Given the description of an element on the screen output the (x, y) to click on. 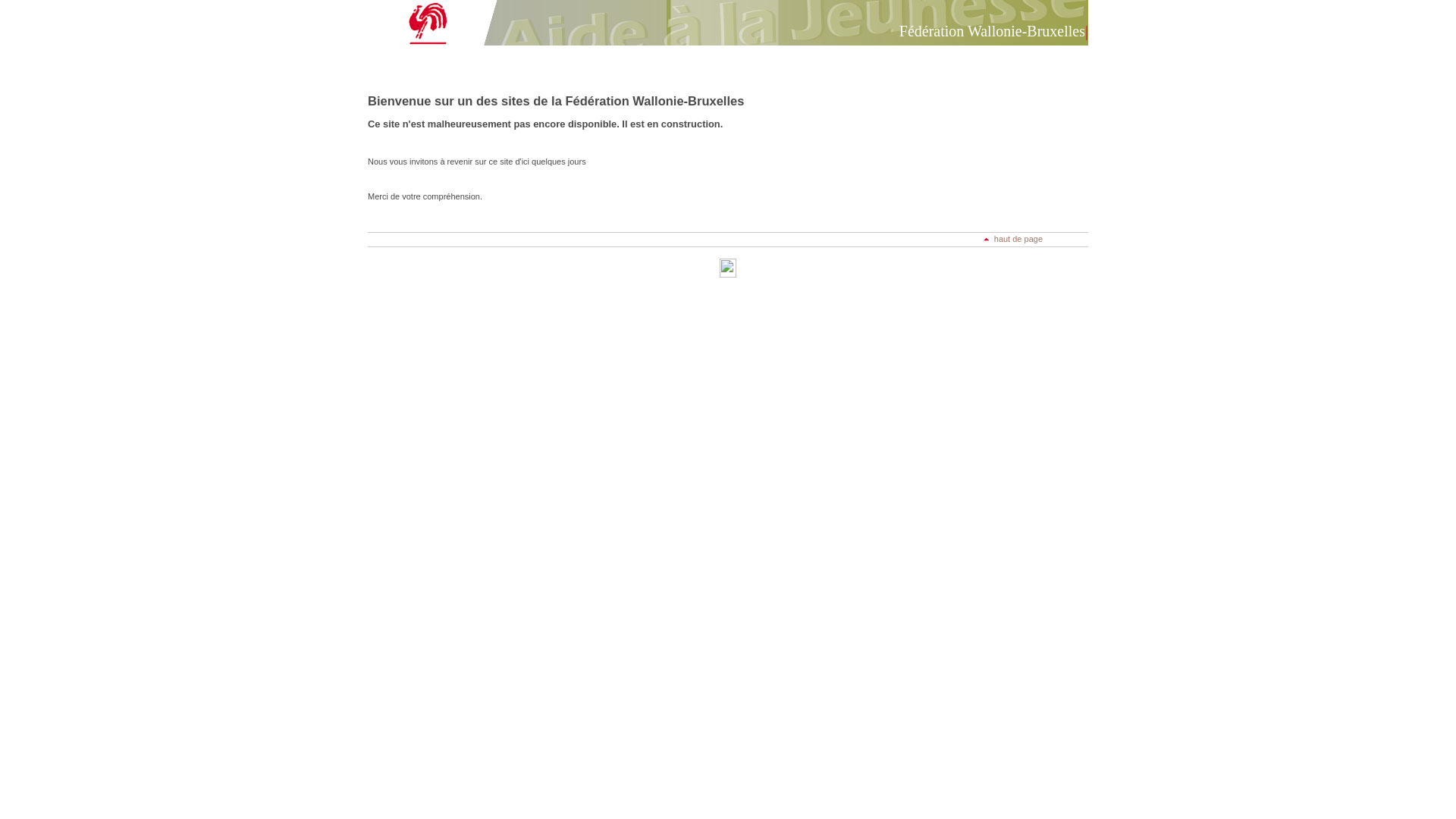
haut de page Element type: text (1012, 238)
